Given the description of an element on the screen output the (x, y) to click on. 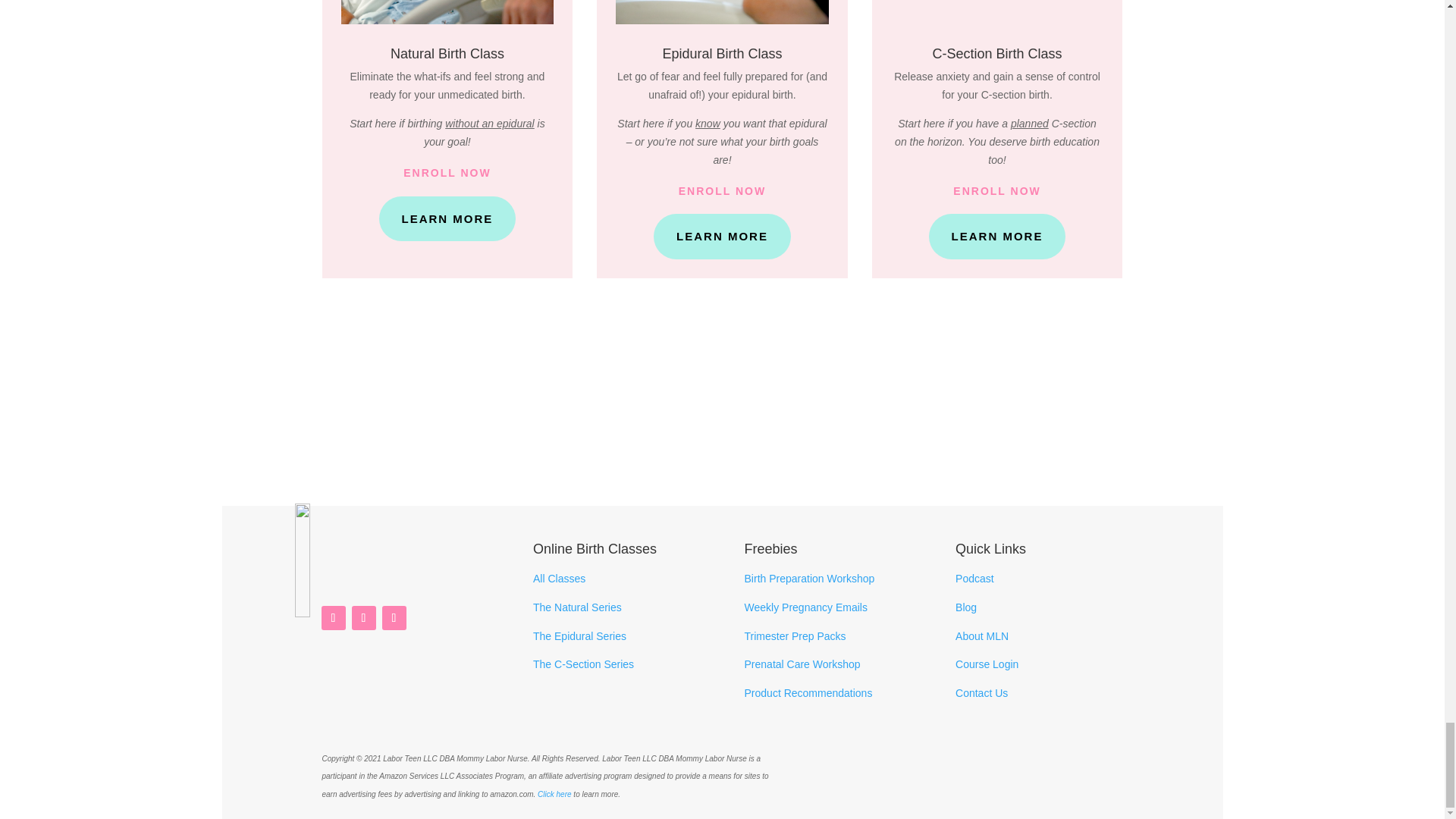
Katie-or-900x600-min (997, 12)
Follow on Instagram (333, 617)
Follow on Pinterest (393, 617)
Follow on Facebook (363, 617)
Meghan 2 (447, 12)
